Given the description of an element on the screen output the (x, y) to click on. 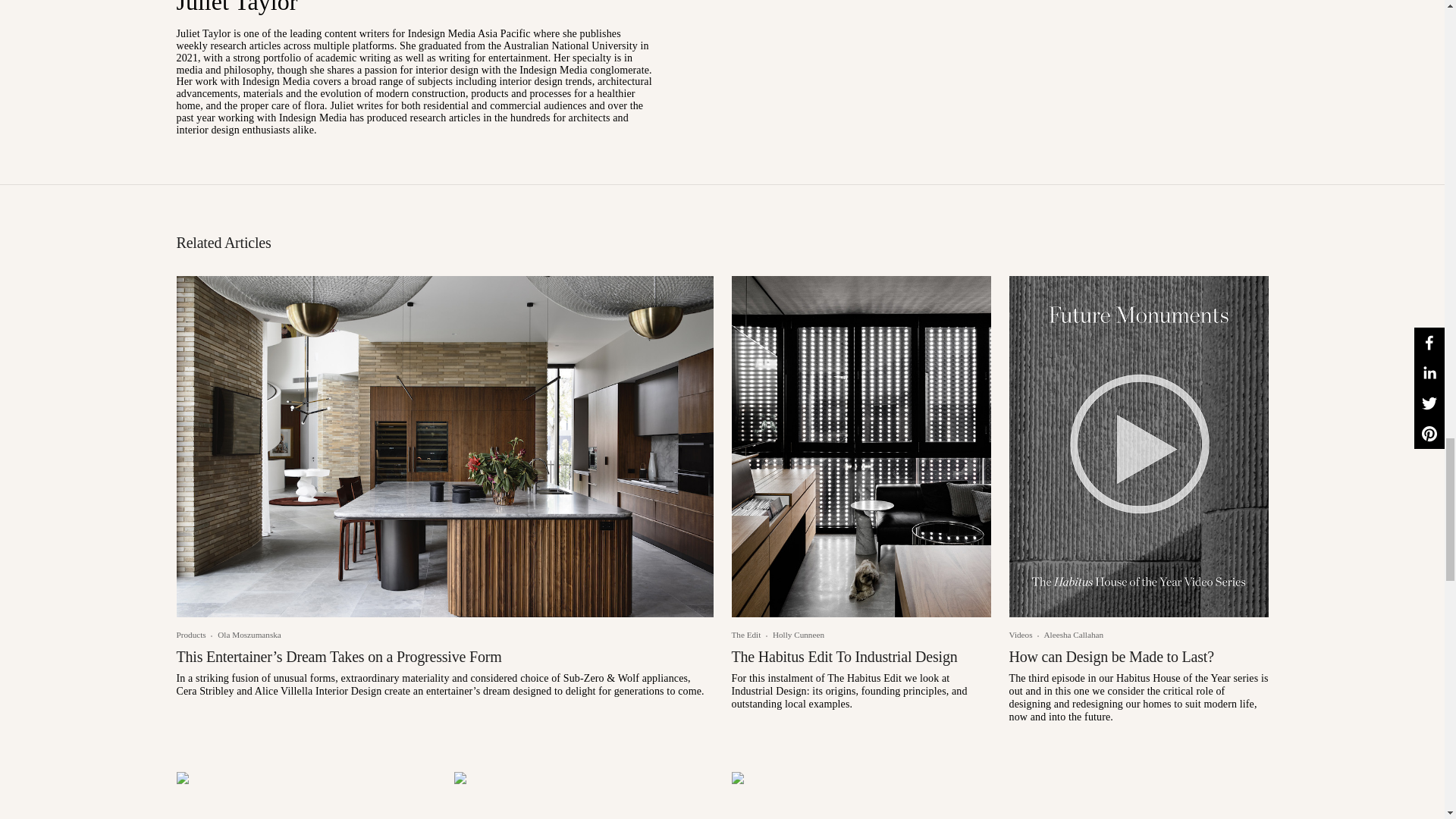
A symbol of luxury and unparalleled Italian craftsmanship (582, 795)
Masterful Design Made For Moments Worth Savouring (305, 795)
